Given the description of an element on the screen output the (x, y) to click on. 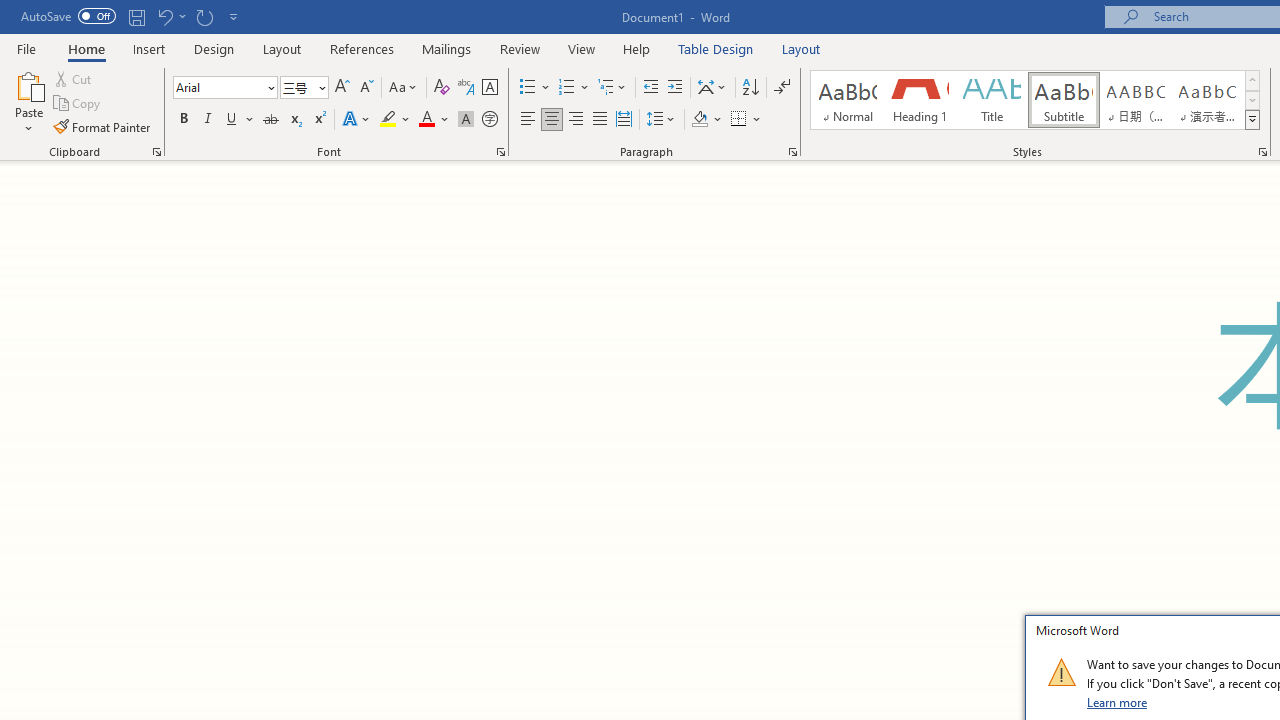
Text Highlight Color (395, 119)
Phonetic Guide... (465, 87)
Table Design (715, 48)
Bold (183, 119)
Save (136, 15)
Show/Hide Editing Marks (781, 87)
Text Effects and Typography (357, 119)
File Tab (26, 48)
Design (214, 48)
Align Left (527, 119)
Review (520, 48)
Asian Layout (712, 87)
References (362, 48)
Clear Formatting (442, 87)
